Given the description of an element on the screen output the (x, y) to click on. 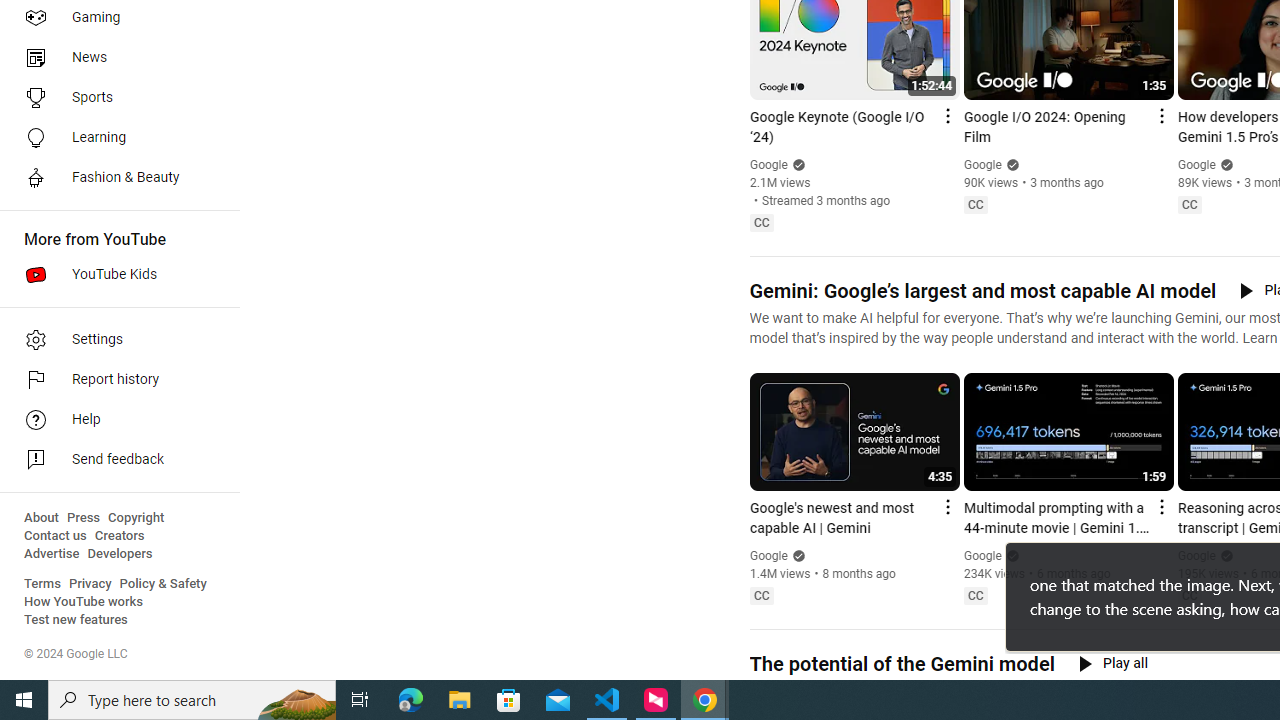
News (113, 57)
Press (83, 518)
